Given the description of an element on the screen output the (x, y) to click on. 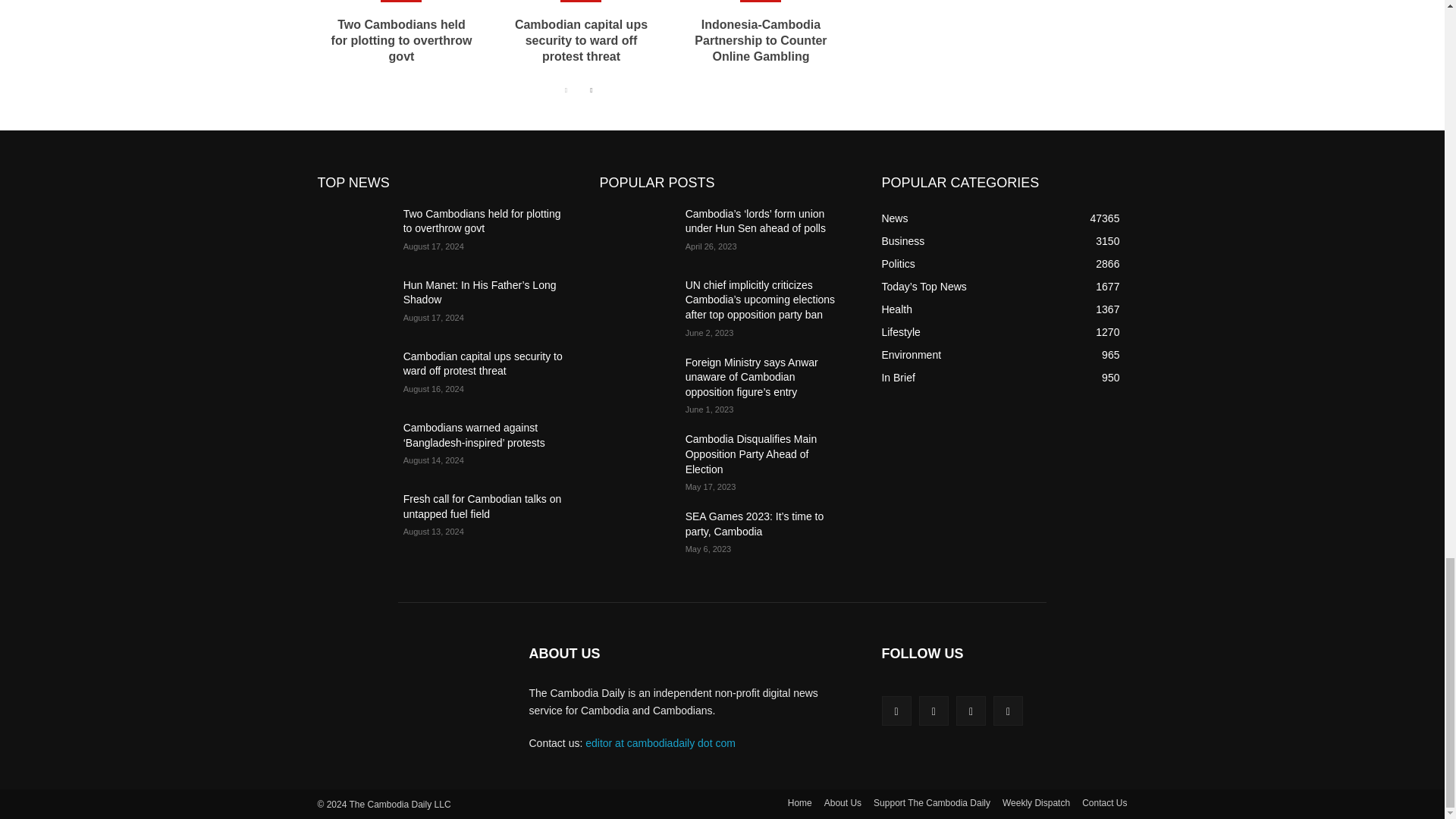
Two Cambodians held for plotting to overthrow govt (401, 40)
Two Cambodians held for plotting to overthrow govt (401, 40)
NEWS (401, 1)
